Given the description of an element on the screen output the (x, y) to click on. 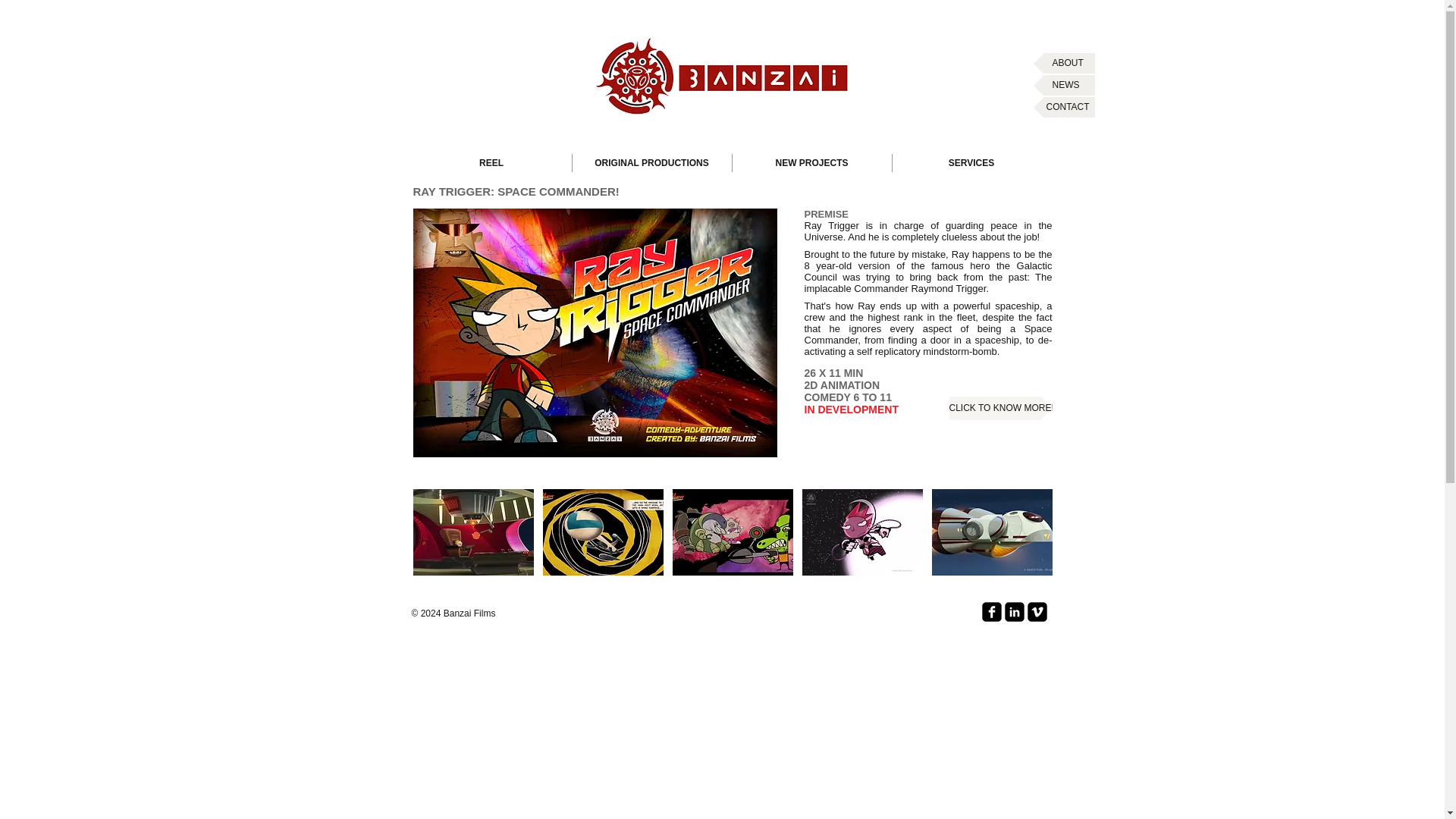
CONTACT (1063, 107)
SERVICES (970, 162)
NEW PROJECTS (811, 162)
NEWS (1063, 85)
CLICK TO KNOW MORE! (1001, 408)
ABOUT (1063, 63)
REEL (490, 162)
ORIGINAL PRODUCTIONS (651, 162)
